Given the description of an element on the screen output the (x, y) to click on. 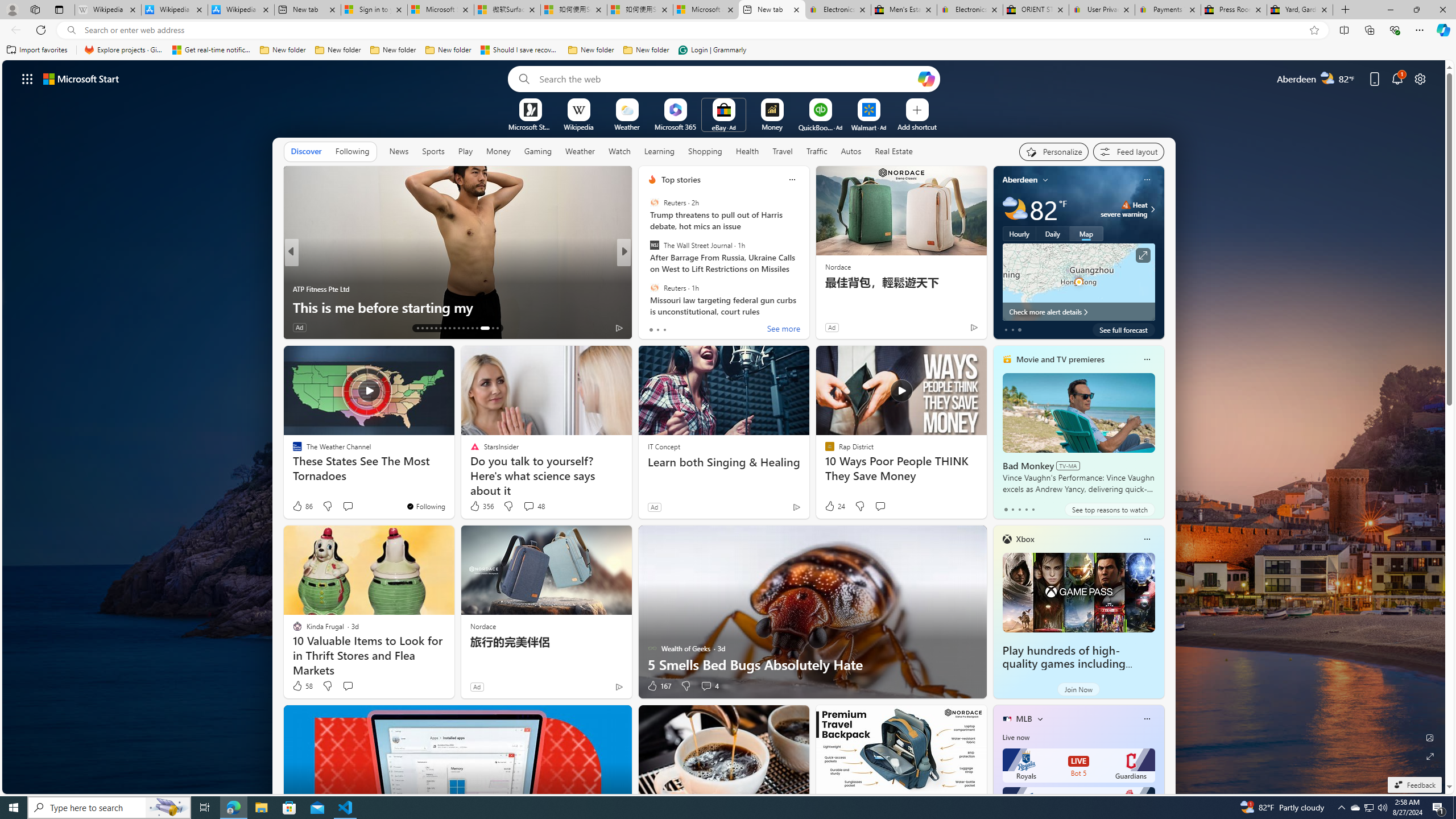
Partly cloudy (1014, 208)
Expand background (1430, 756)
Movie and TV premieres (1060, 359)
Page settings (1420, 78)
